Given the description of an element on the screen output the (x, y) to click on. 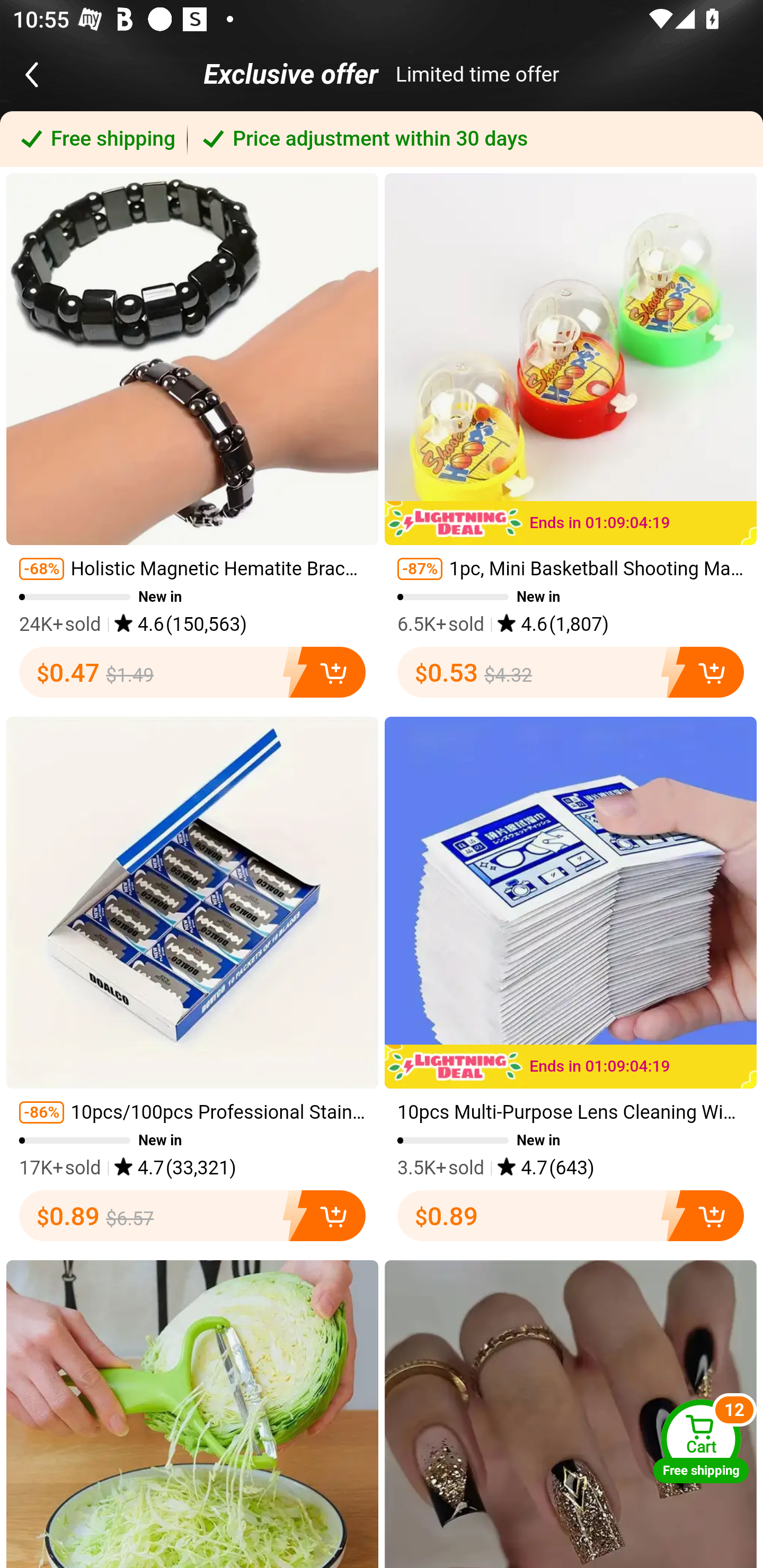
Free shipping (94, 138)
Price adjustment within 30 days (475, 138)
$0.47 $1.49 (192, 671)
$0.53 $4.32 (570, 671)
$0.89 $6.57 (192, 1215)
$0.89 (570, 1215)
Cart Free shipping Cart (701, 1440)
